Given the description of an element on the screen output the (x, y) to click on. 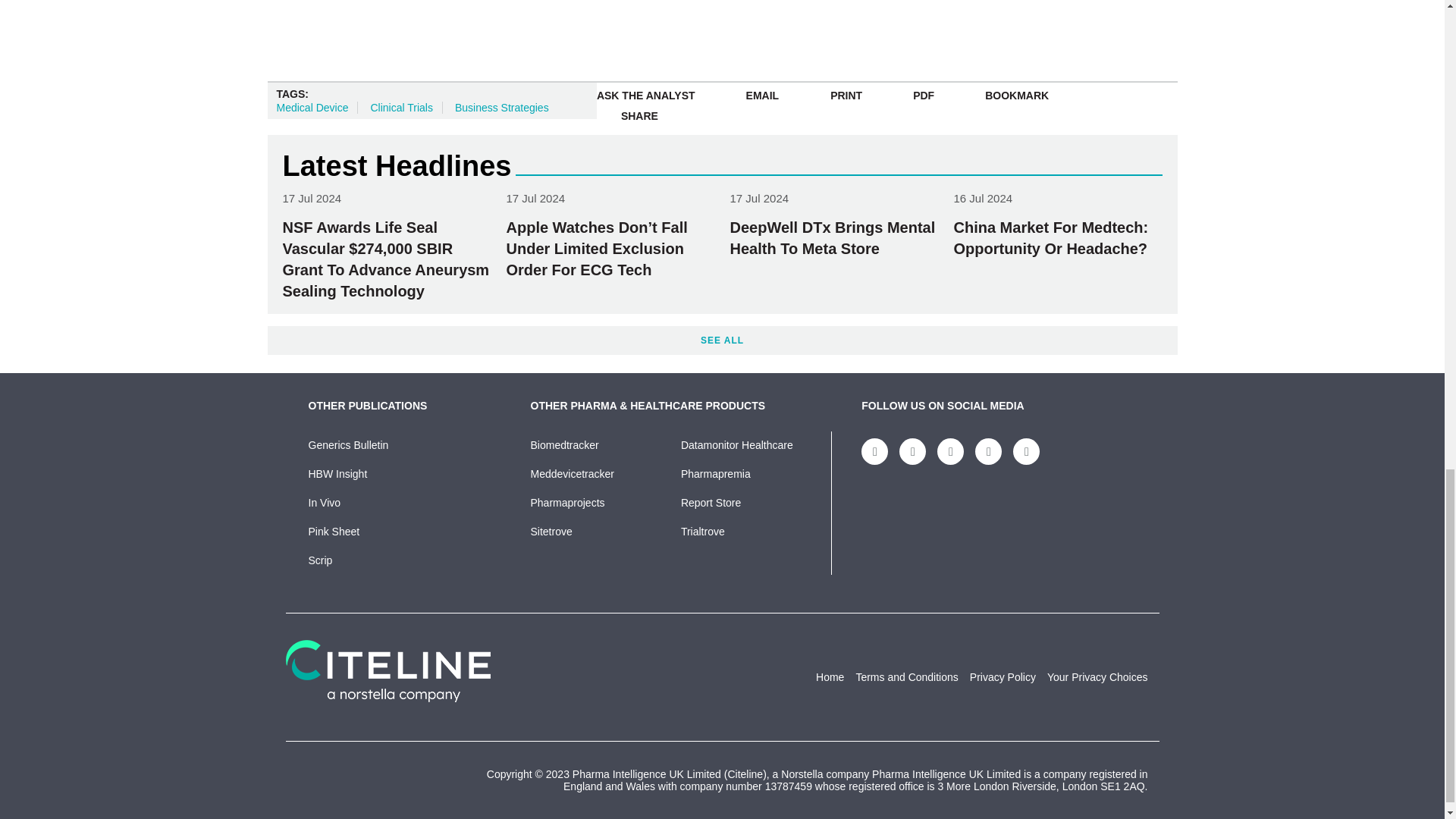
3rd party ad content (1070, 22)
